Given the description of an element on the screen output the (x, y) to click on. 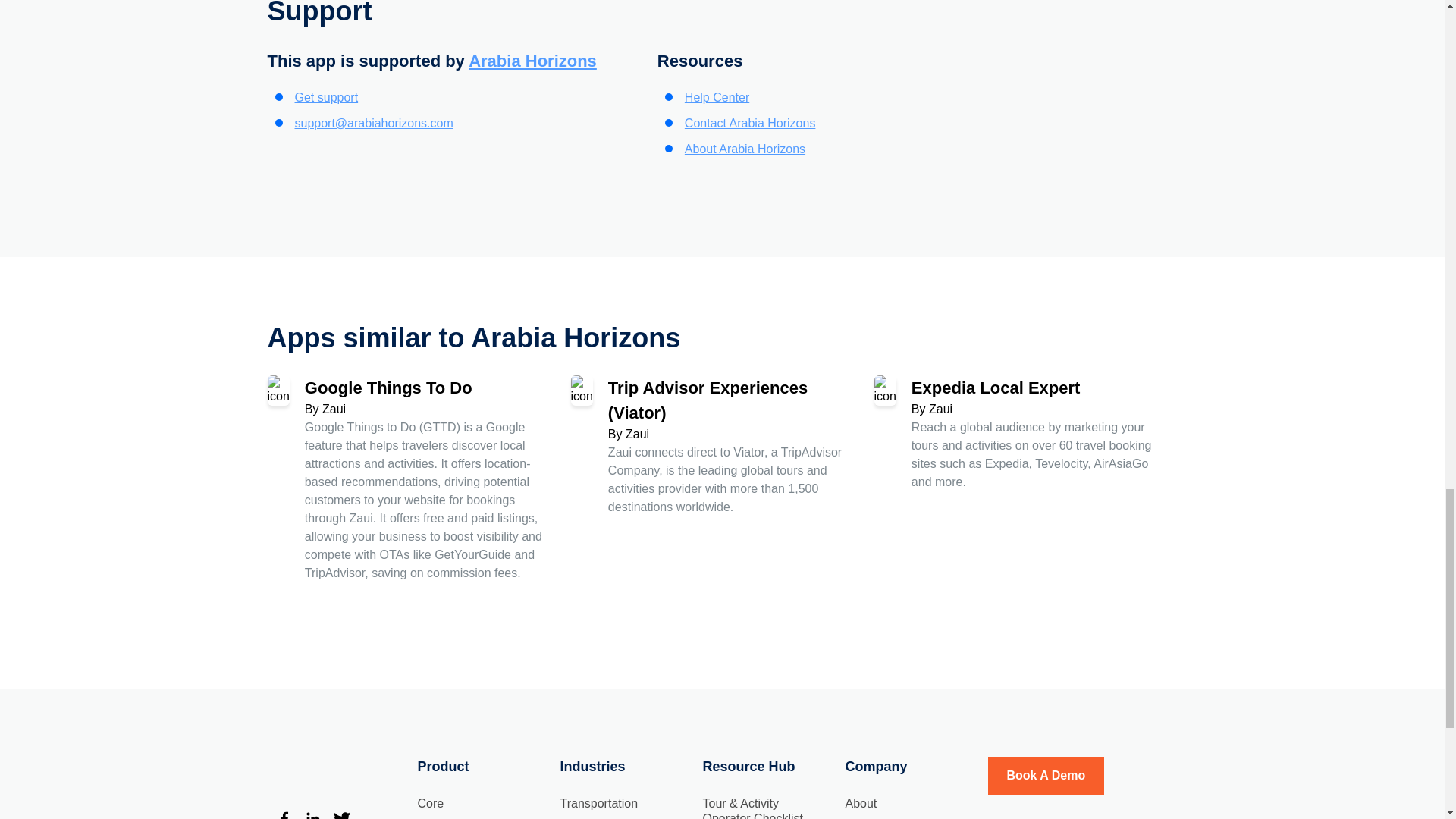
About Arabia Horizons (744, 148)
Help Center (716, 97)
Marketplace (320, 767)
Expedia Local Expert (995, 387)
Arabia Horizons (532, 60)
Core (430, 802)
Contact Arabia Horizons (749, 123)
Get support (326, 97)
Google Things To Do (387, 387)
Transportation (598, 802)
